Given the description of an element on the screen output the (x, y) to click on. 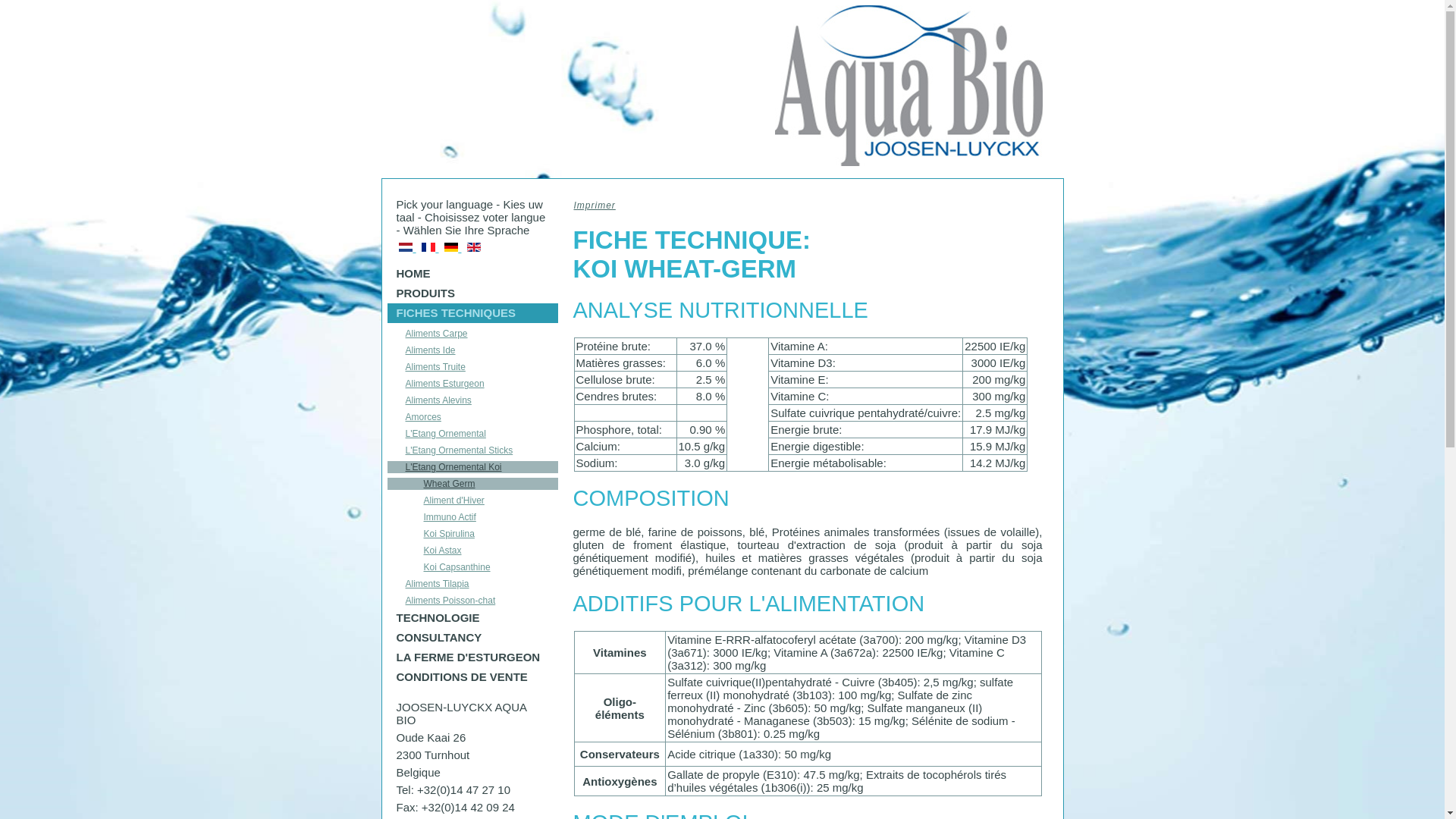
TECHNOLOGIE Element type: text (471, 617)
Aliments Tilapia Element type: text (471, 583)
L'Etang Ornemental Sticks Element type: text (471, 450)
Nederlands (BE) Element type: hover (405, 246)
HOME Element type: text (471, 273)
L'Etang Ornemental Koi Element type: text (471, 467)
Aliments Alevins Element type: text (471, 400)
Koi Astax Element type: text (471, 550)
Aliments Poisson-chat Element type: text (471, 600)
CONDITIONS DE VENTE Element type: text (471, 677)
Amorces Element type: text (471, 417)
Aliments Ide Element type: text (471, 350)
LA FERME D'ESTURGEON Element type: text (471, 657)
Aliments Carpe Element type: text (471, 333)
Deutch (DE) Element type: hover (451, 246)
Aliments Esturgeon Element type: text (471, 383)
Koi Capsanthine Element type: text (471, 567)
Immuno Actif Element type: text (471, 517)
PRODUITS Element type: text (471, 293)
Koi Spirulina Element type: text (471, 533)
L'Etang Ornemental Element type: text (471, 433)
CONSULTANCY Element type: text (471, 637)
Aliments Truite Element type: text (471, 366)
English (UK) Element type: hover (473, 246)
Wheat Germ Element type: text (471, 483)
FICHES TECHNIQUES Element type: text (471, 313)
Imprimer Element type: text (594, 205)
Aliment d'Hiver Element type: text (471, 500)
